Given the description of an element on the screen output the (x, y) to click on. 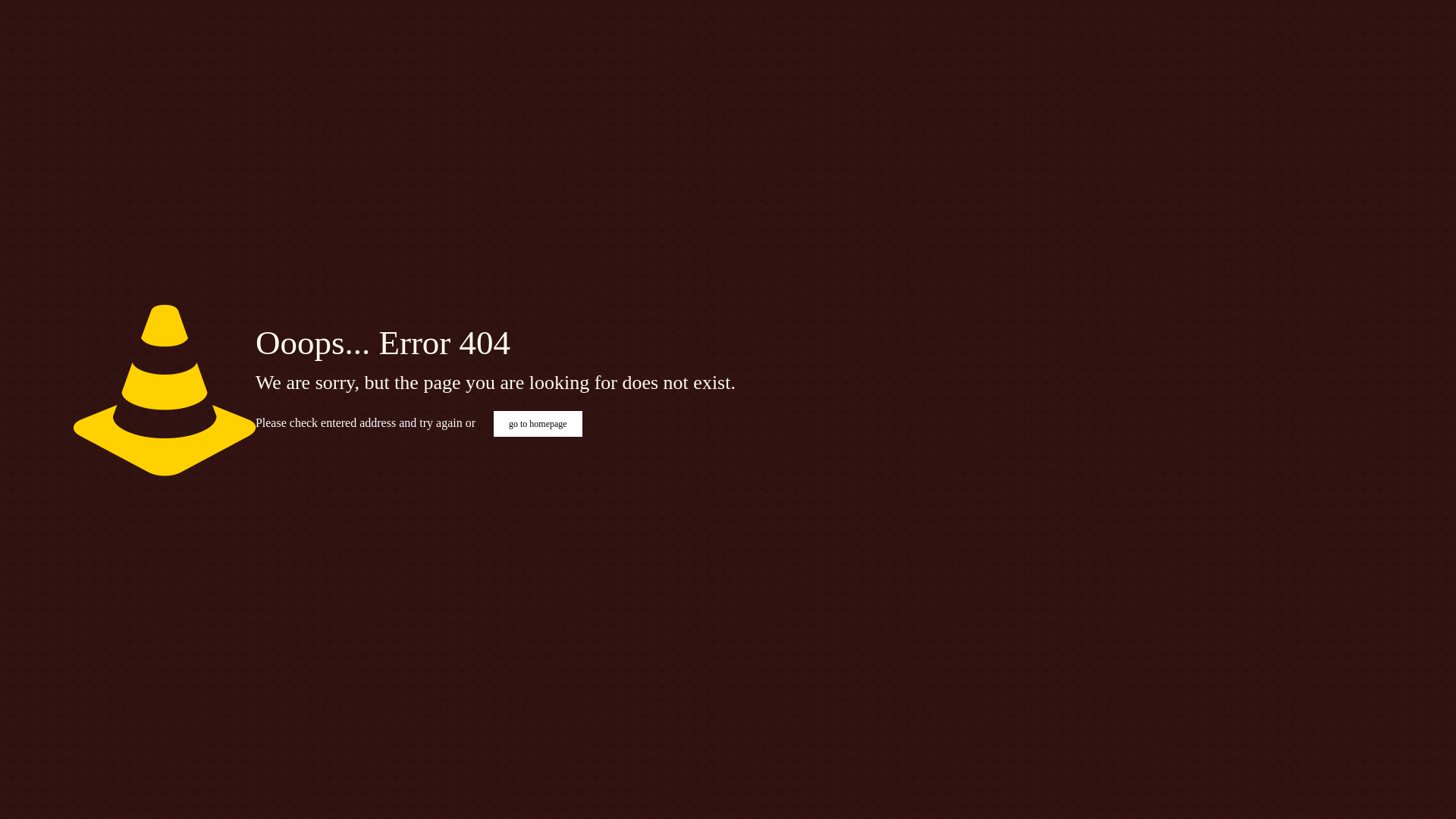
go to homepage Element type: text (537, 423)
